Given the description of an element on the screen output the (x, y) to click on. 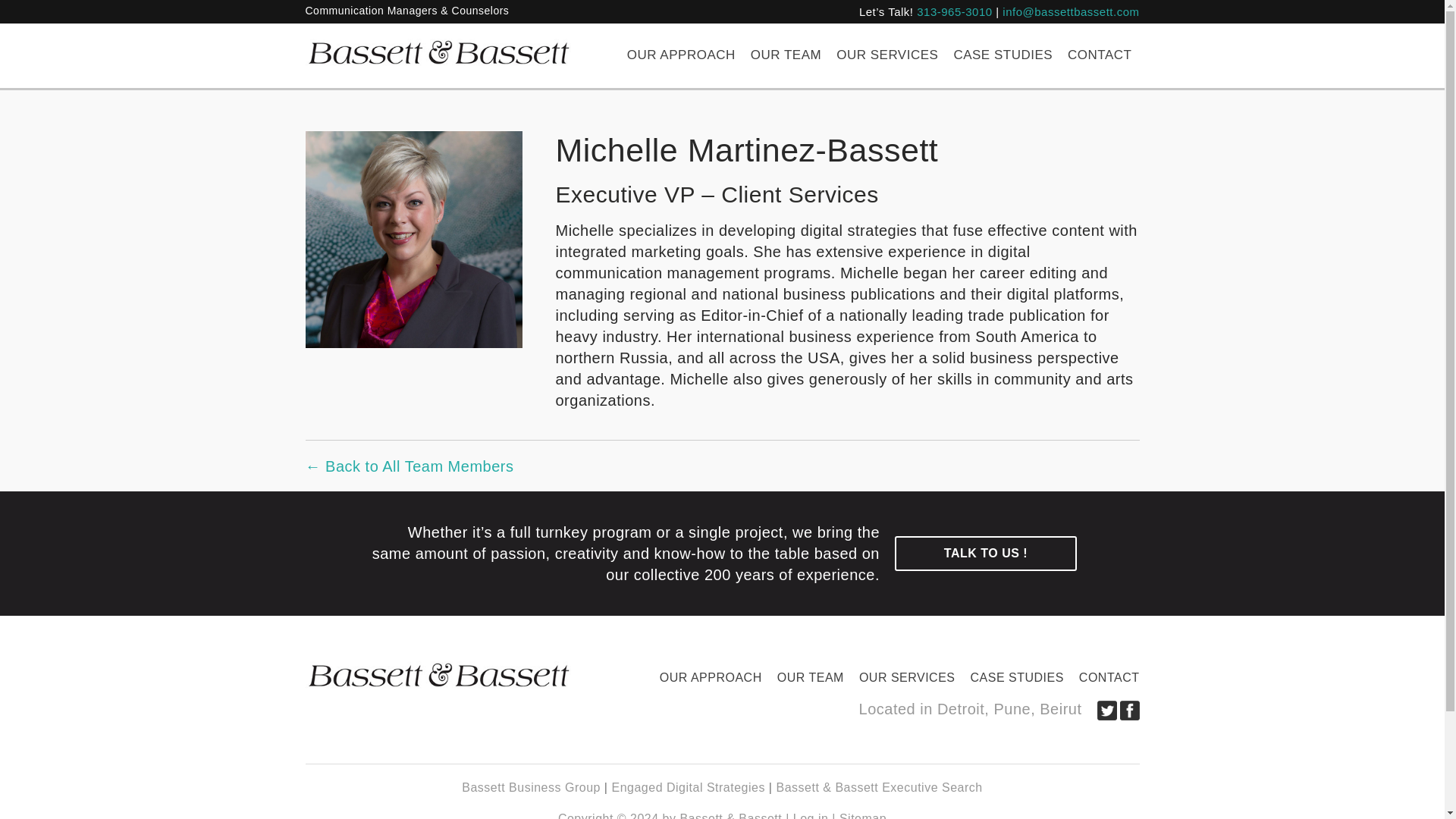
313-965-3010 (954, 11)
Sitemap (863, 815)
OUR SERVICES (886, 54)
CONTACT (1098, 54)
Engaged Digital Strategies (687, 787)
Bassett Business Group (530, 787)
CONTACT (1105, 678)
OUR TEAM (785, 54)
Log in (810, 815)
OUR APPROACH (681, 54)
OUR APPROACH (711, 678)
OUR SERVICES (906, 678)
CASE STUDIES (1016, 678)
OUR TEAM (810, 678)
CASE STUDIES (1001, 54)
